Given the description of an element on the screen output the (x, y) to click on. 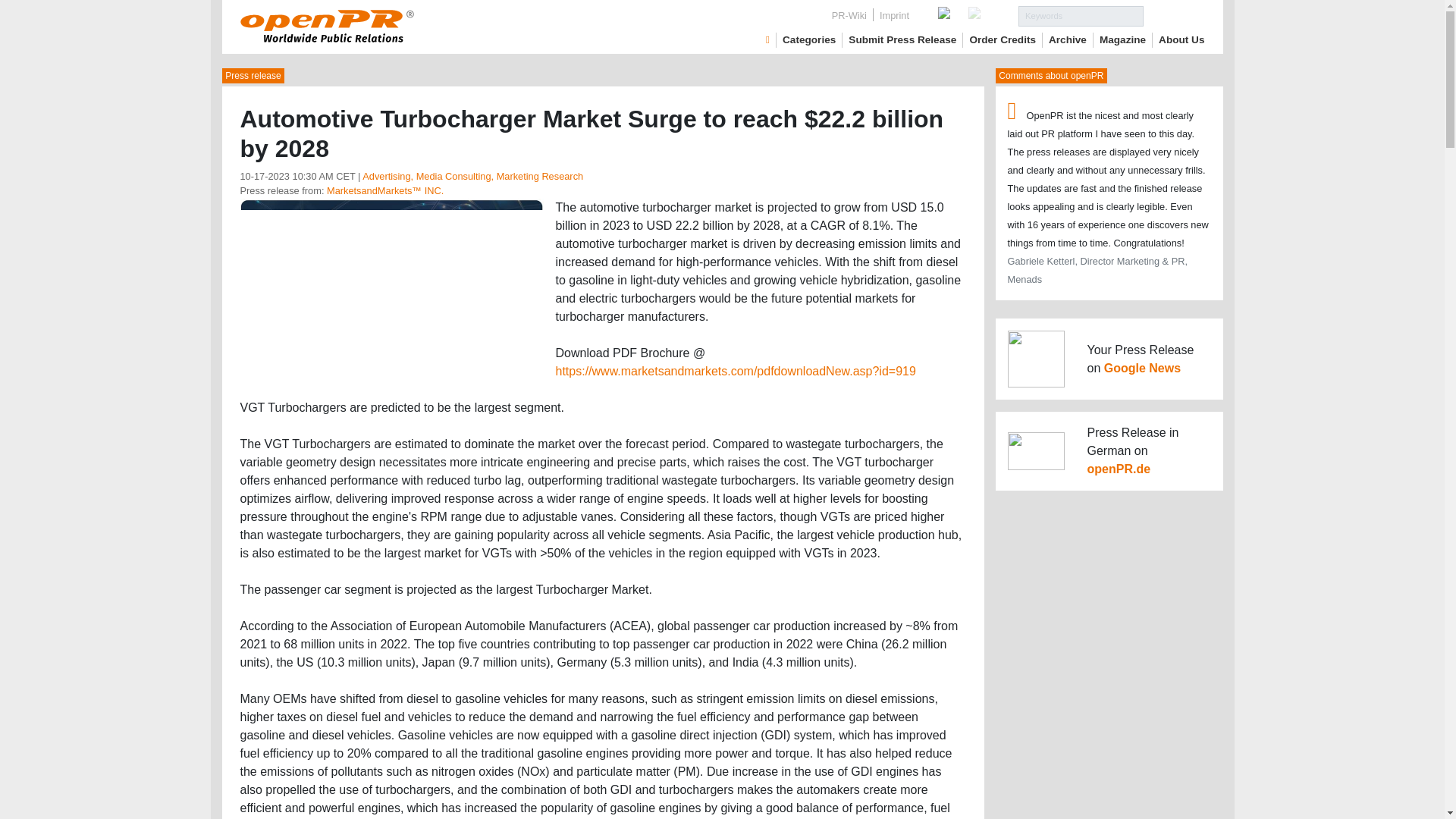
Order Credits (1002, 39)
Advertising, Media Consulting, Marketing Research (472, 175)
Imprint (894, 15)
PR-Wiki (848, 15)
Magazine (1122, 39)
Archive (1067, 39)
About Us (1181, 39)
Submit Press Release (902, 39)
Search   (1173, 15)
Categories (809, 39)
